Given the description of an element on the screen output the (x, y) to click on. 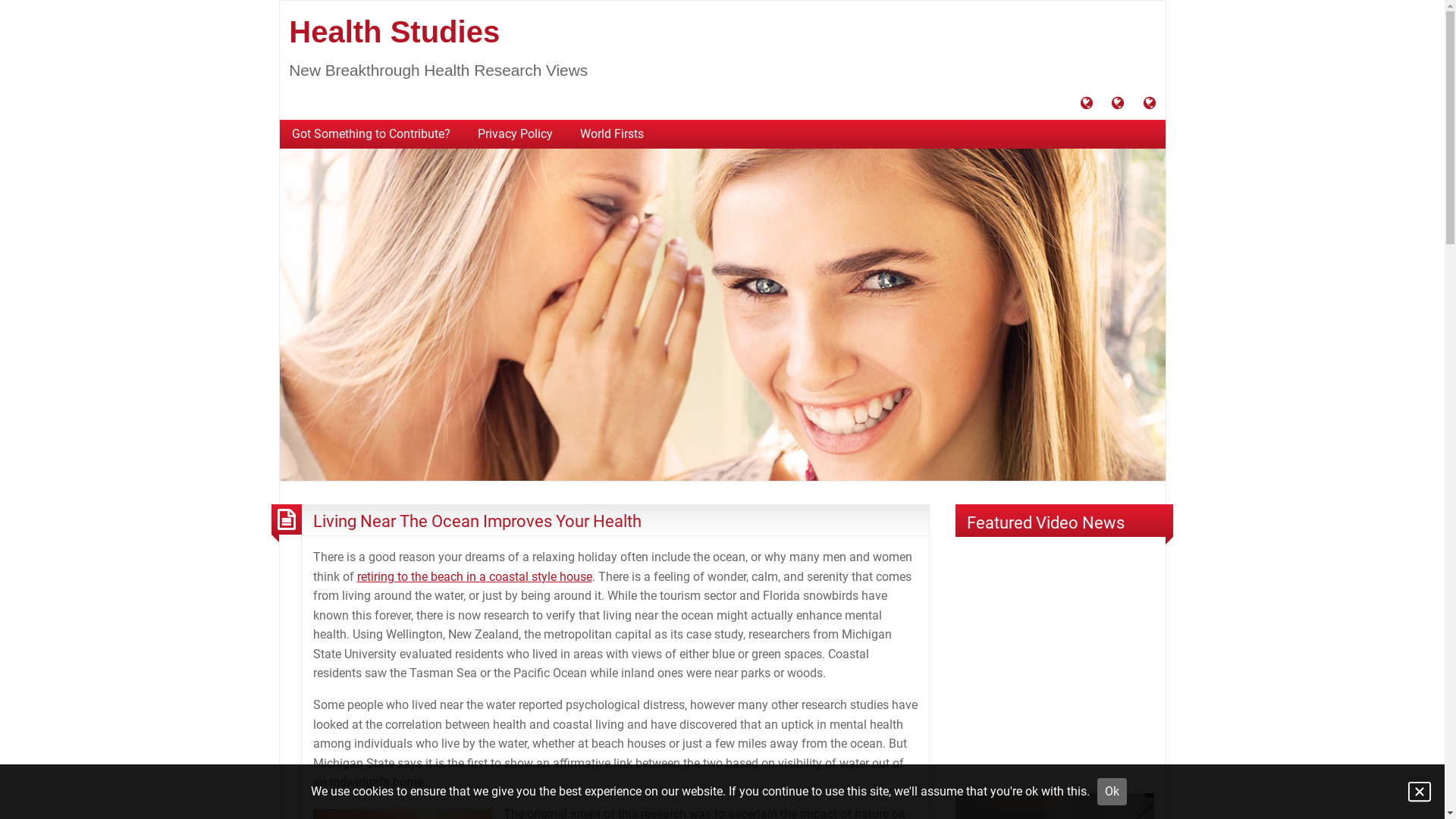
Got Something to Contribute? Element type: text (370, 133)
Living Near The Ocean Improves Your Health Element type: text (476, 520)
World Firsts Element type: text (611, 133)
Privacy Policy Element type: text (1117, 104)
Got Something to Contribute? Element type: text (1086, 104)
Privacy Policy Element type: text (514, 133)
Health Studies Element type: text (393, 31)
retiring to the beach in a coastal style house Element type: text (473, 575)
Ok Element type: text (1111, 791)
World Firsts Element type: text (1148, 104)
Health Studies Element type: hover (721, 313)
